Given the description of an element on the screen output the (x, y) to click on. 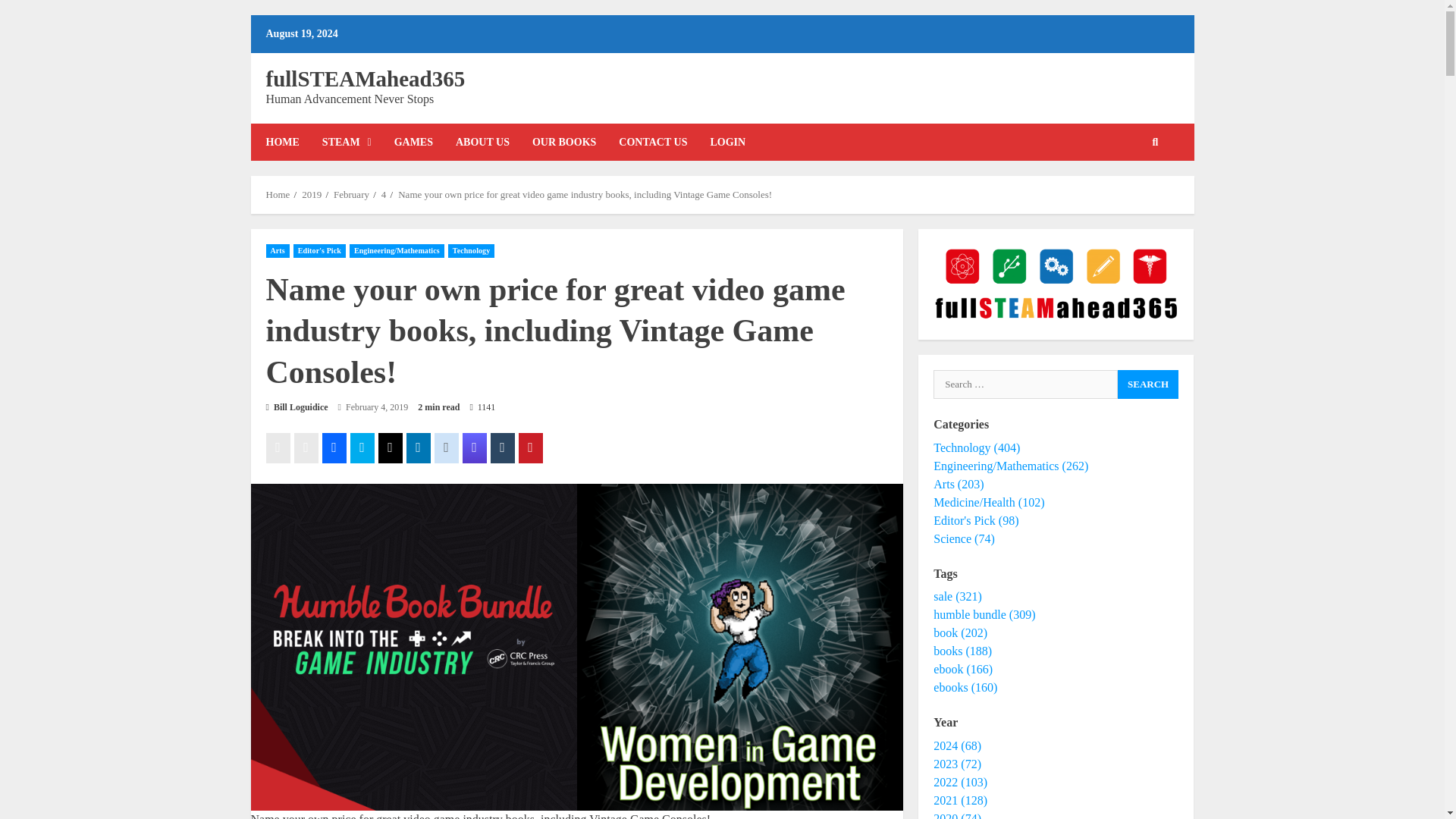
CONTACT US (652, 141)
Bill Loguidice (295, 407)
Home (276, 194)
ABOUT US (482, 141)
1141 (481, 407)
Search (1131, 193)
Search (1148, 383)
2019 (311, 194)
